Given the description of an element on the screen output the (x, y) to click on. 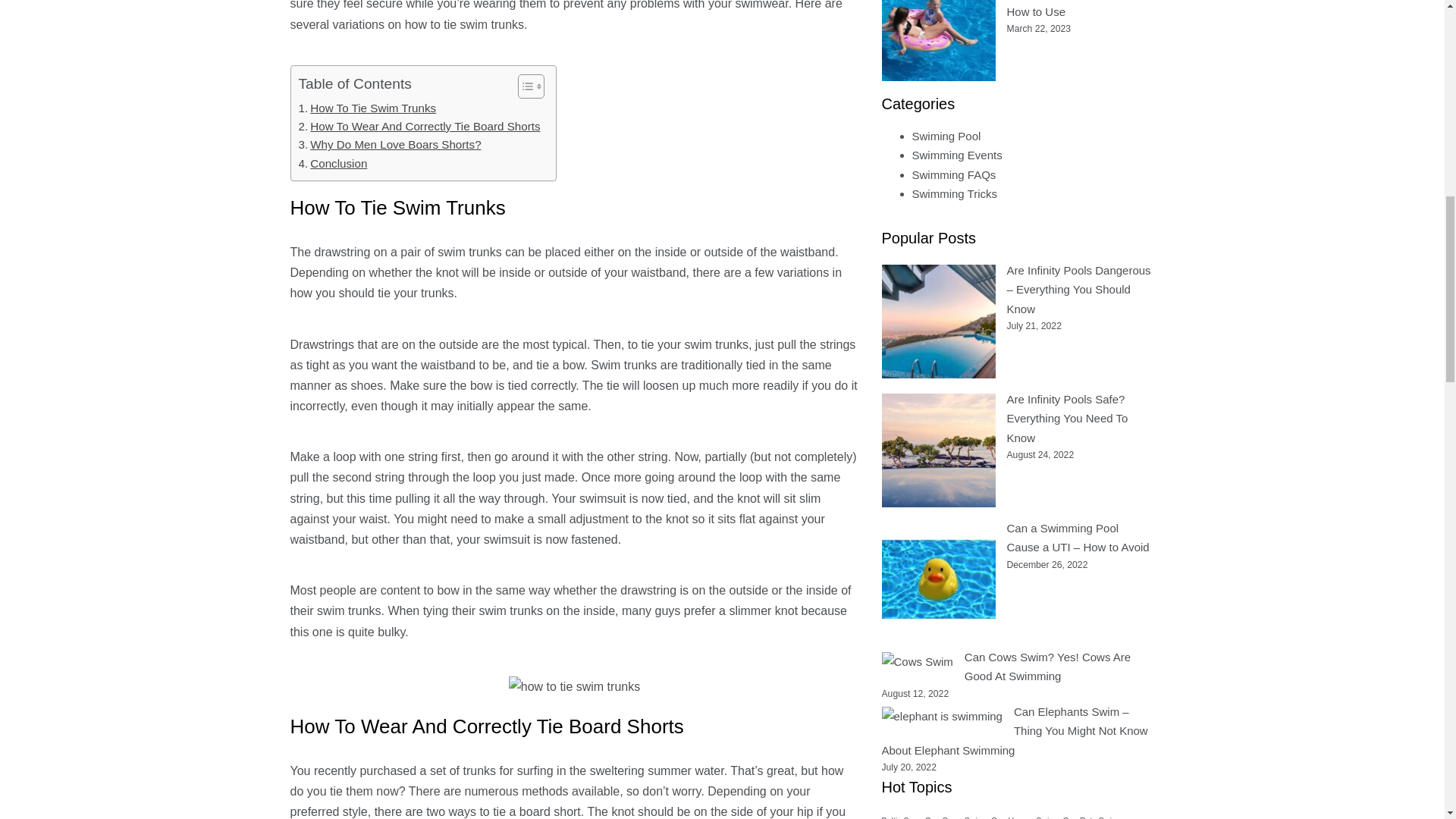
Conclusion (333, 163)
How To Wear And Correctly Tie Board Shorts (419, 126)
Why Do Men Love Boars Shorts? (389, 144)
Conclusion (333, 163)
How To Wear And Correctly Tie Board Shorts (419, 126)
How To Tie Swim Trunks (367, 108)
Why Do Men Love Boars Shorts? (389, 144)
How To Tie Swim Trunks (367, 108)
